Given the description of an element on the screen output the (x, y) to click on. 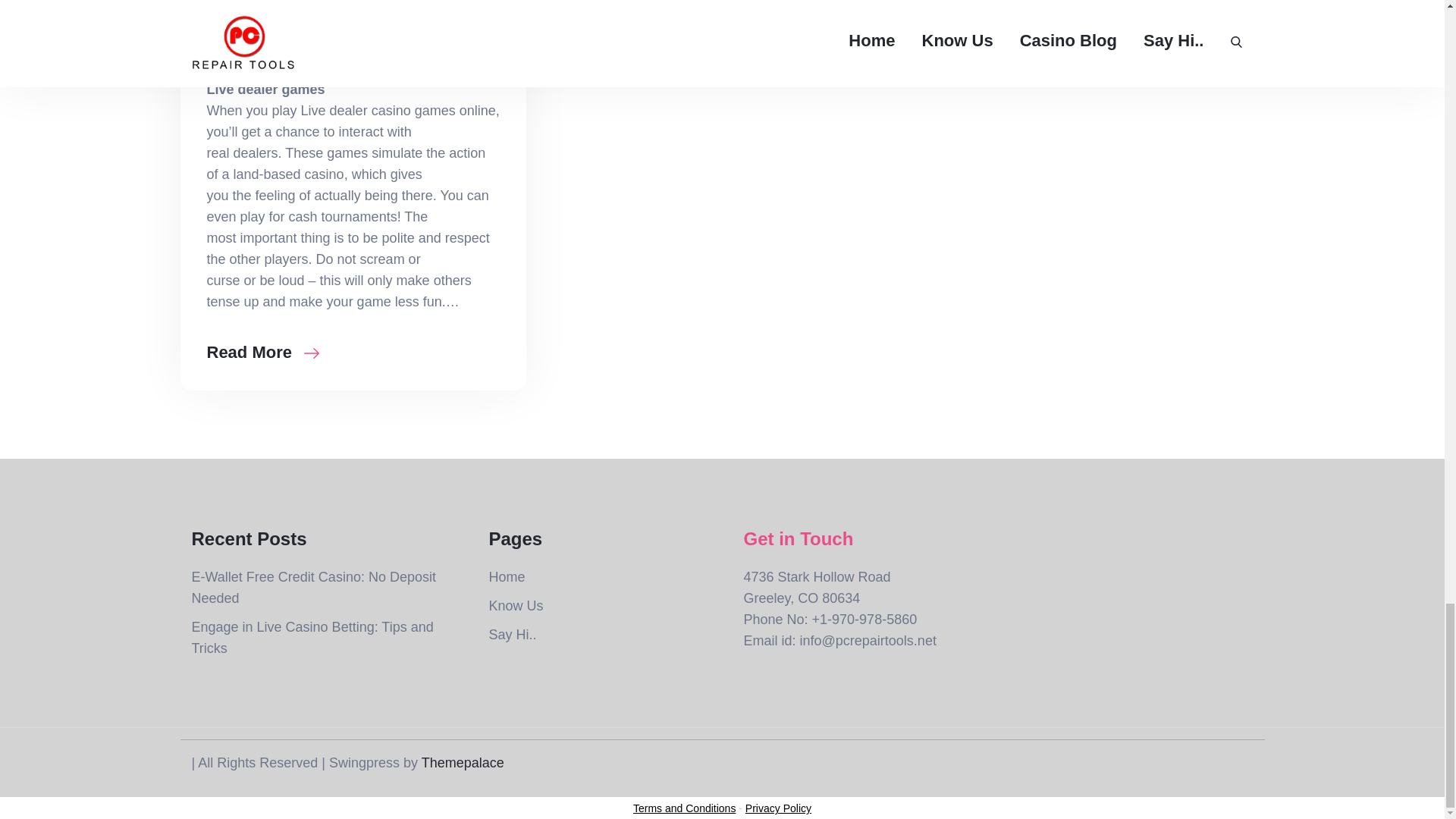
Know Us (515, 605)
Say Hi.. (511, 634)
Home (505, 576)
Terms and Conditions (684, 808)
Privacy Policy (777, 808)
Read More (262, 352)
E-Wallet Free Credit Casino: No Deposit Needed (312, 587)
Engage in Live Casino Betting: Tips and Tricks (311, 637)
Themepalace (462, 762)
